Given the description of an element on the screen output the (x, y) to click on. 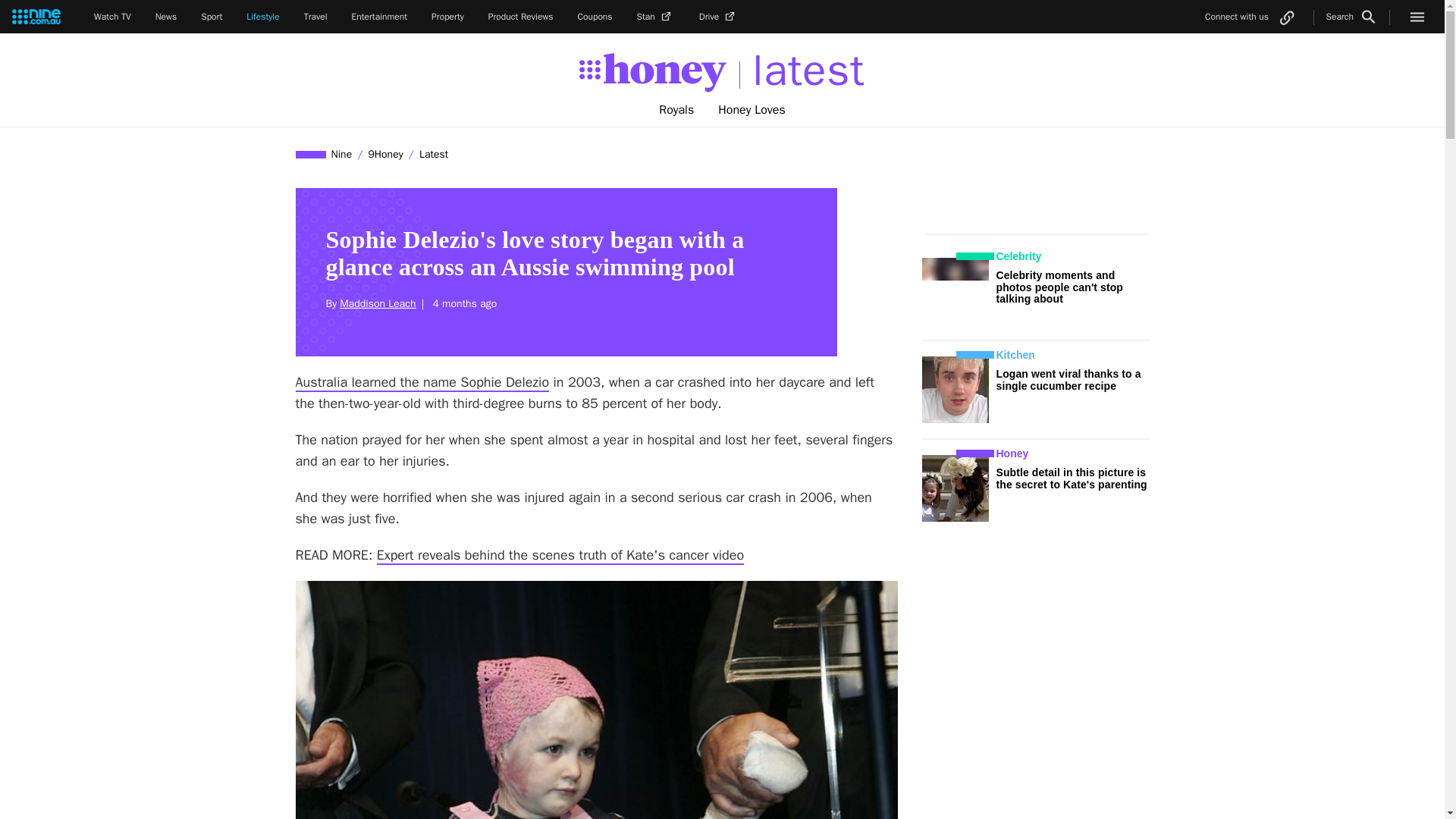
Coupons (595, 16)
Celebrity moments and photos people can't stop talking about (1059, 286)
Watch TV (112, 16)
Stan (656, 16)
Maddison Leach (376, 303)
Lifestyle (262, 16)
Drive (718, 16)
Australia learned the name Sophie Delezio (422, 382)
Entertainment (379, 16)
Australia learned the name Sophie Delezio (422, 382)
